Given the description of an element on the screen output the (x, y) to click on. 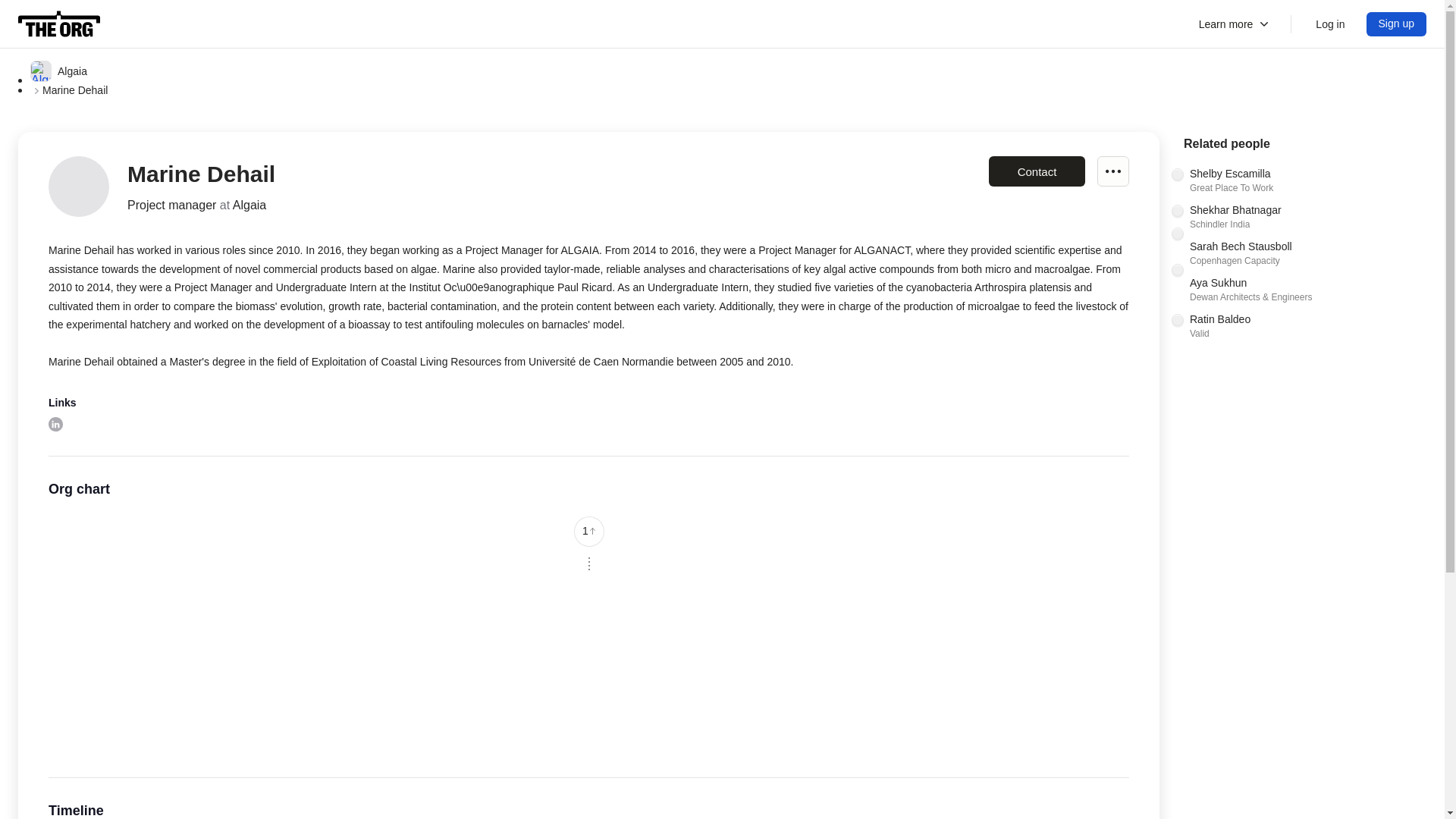
View on linkedIn (55, 423)
Learn more (1304, 325)
Join, edit and report menu (1304, 216)
Log in to The Org (1234, 24)
Sign up to The Org (1113, 171)
The Org Home (1329, 24)
Log in (1396, 24)
1 (58, 23)
